Given the description of an element on the screen output the (x, y) to click on. 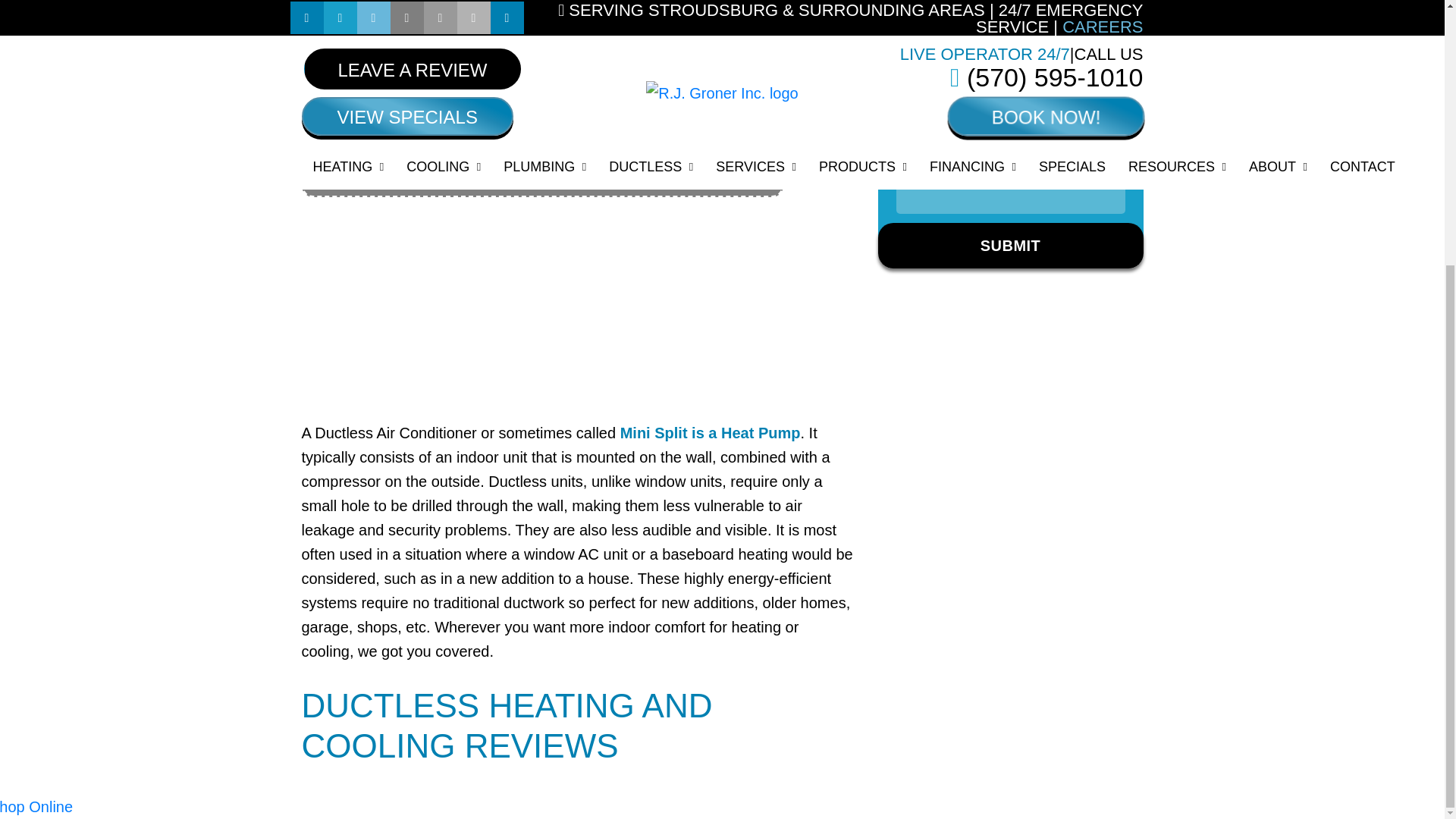
Submit (1009, 245)
